Given the description of an element on the screen output the (x, y) to click on. 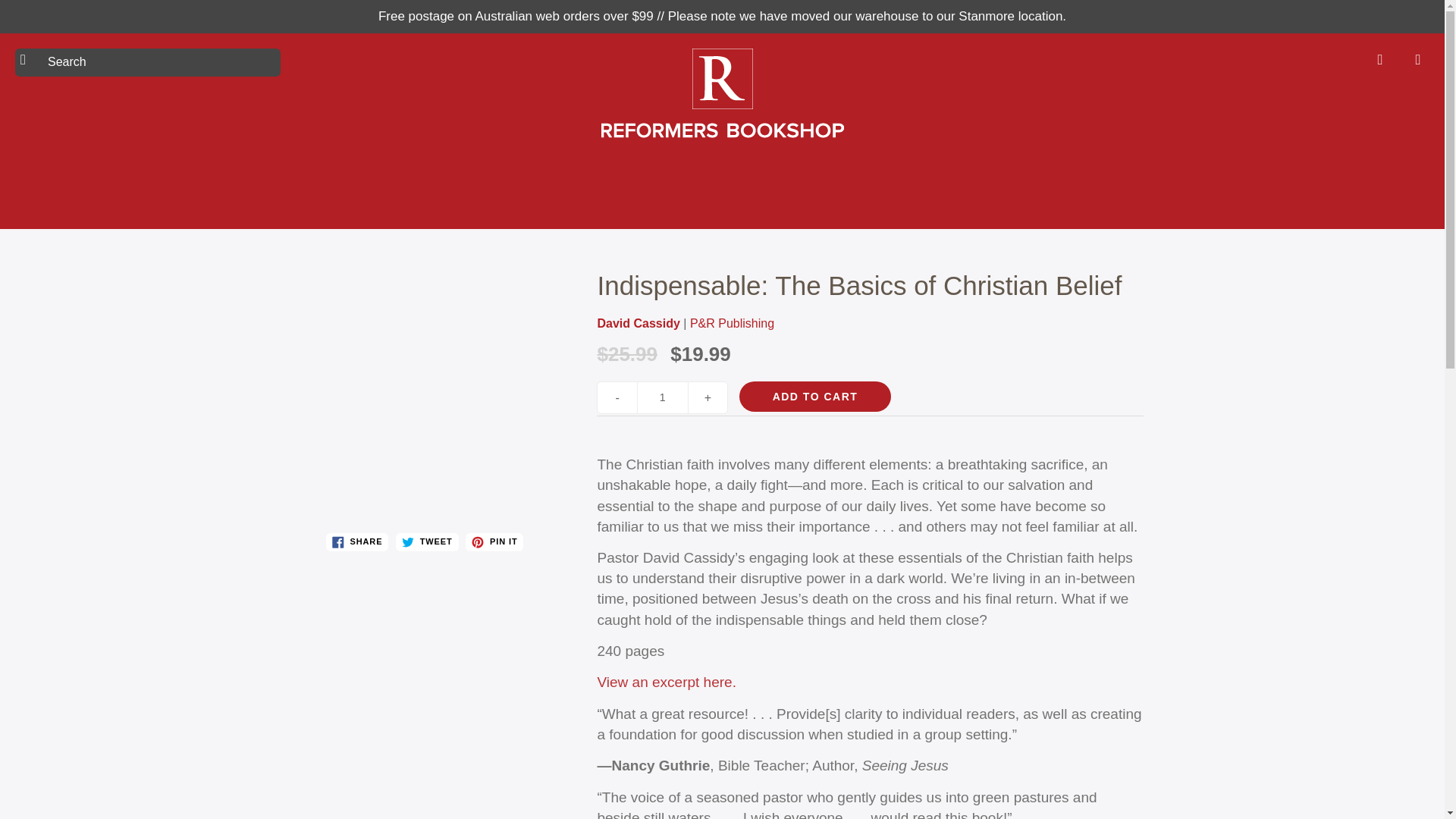
My account (1379, 59)
Share on Facebook (357, 542)
1 (662, 397)
You have 0 items in your cart (1417, 59)
Tweet on Twitter (427, 542)
Search (28, 59)
Pin on Pinterest (493, 542)
Excerpt (665, 682)
